Given the description of an element on the screen output the (x, y) to click on. 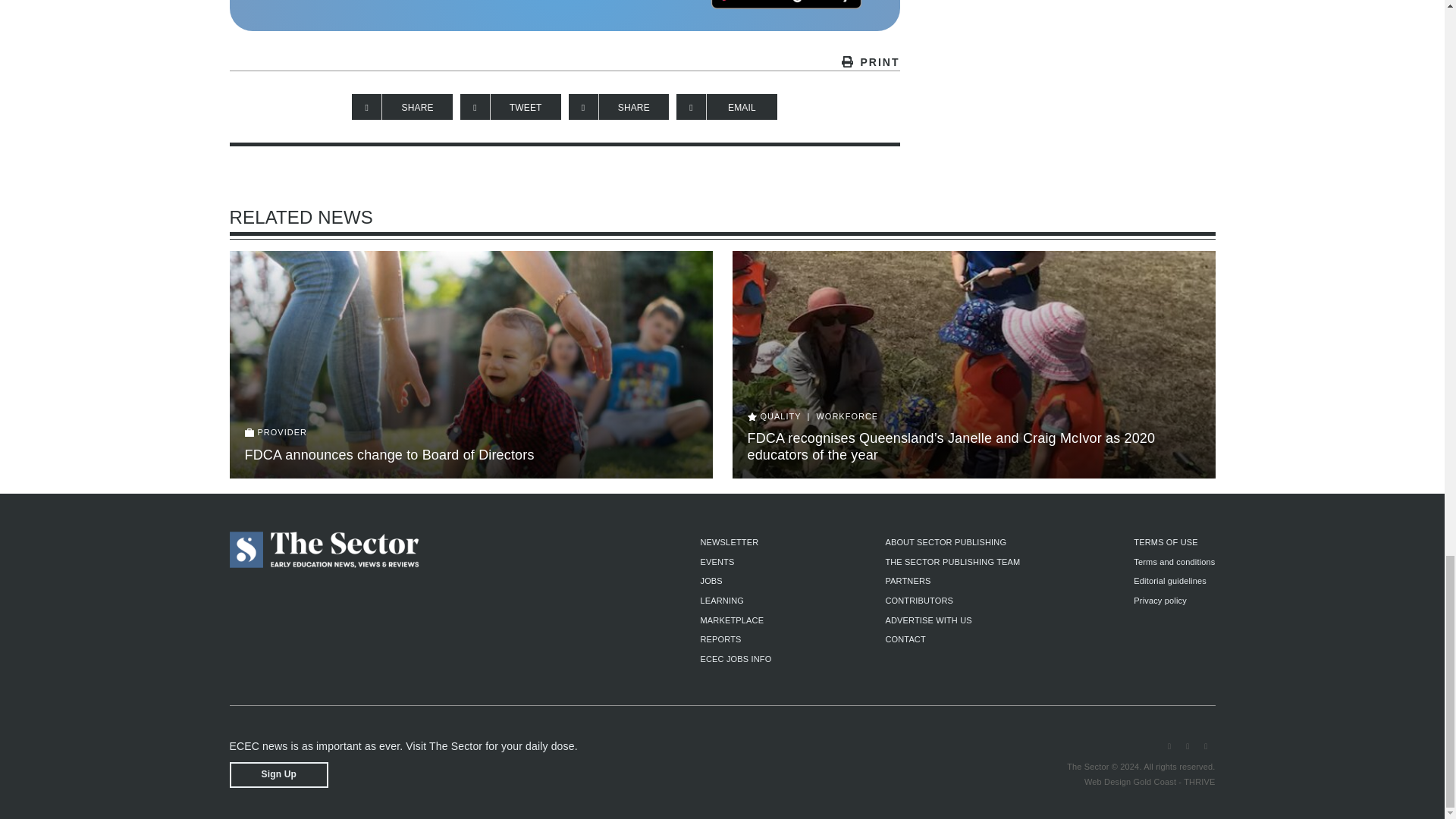
Share on LinkedIn (619, 106)
Tweet (510, 106)
Share on Email (727, 106)
Web Design Gold Coast (1130, 781)
Share on Facebook (402, 106)
